Given the description of an element on the screen output the (x, y) to click on. 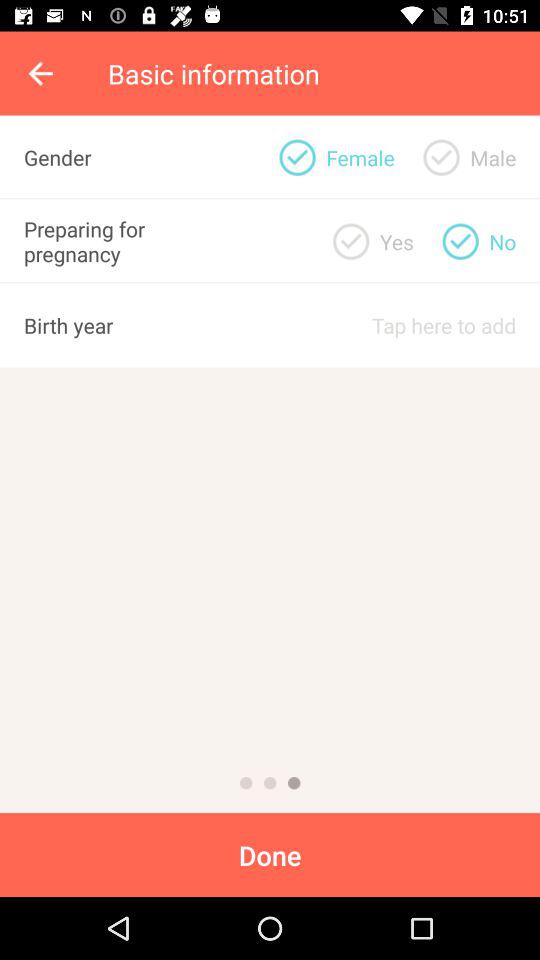
first screen (246, 783)
